Given the description of an element on the screen output the (x, y) to click on. 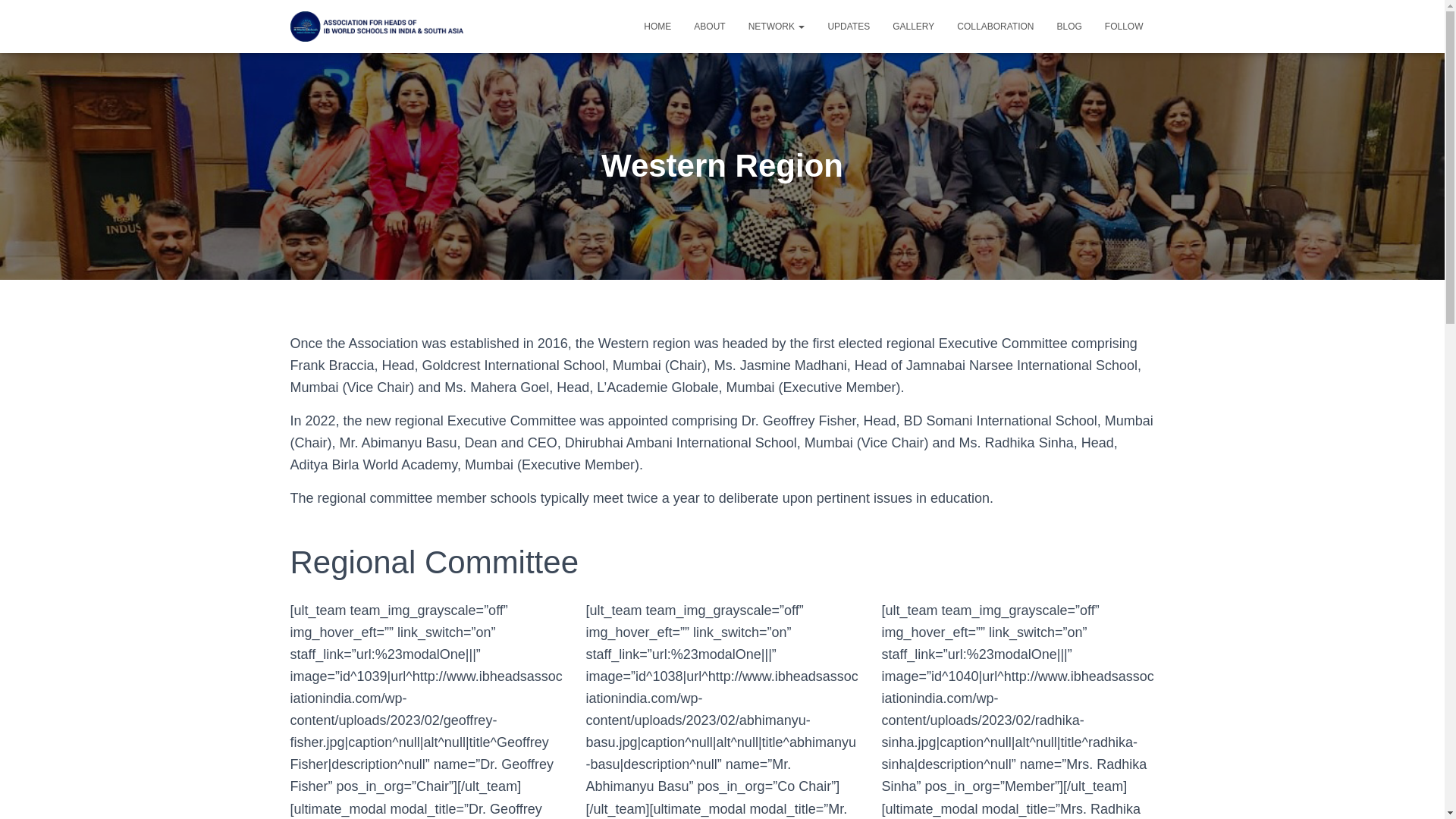
Updates (847, 26)
HOME (656, 26)
BLOG (1069, 26)
GALLERY (912, 26)
COLLABORATION (994, 26)
Collaboration (994, 26)
Gallery (912, 26)
About (709, 26)
Association for Heads of IB World Schools (379, 25)
ABOUT (709, 26)
